Given the description of an element on the screen output the (x, y) to click on. 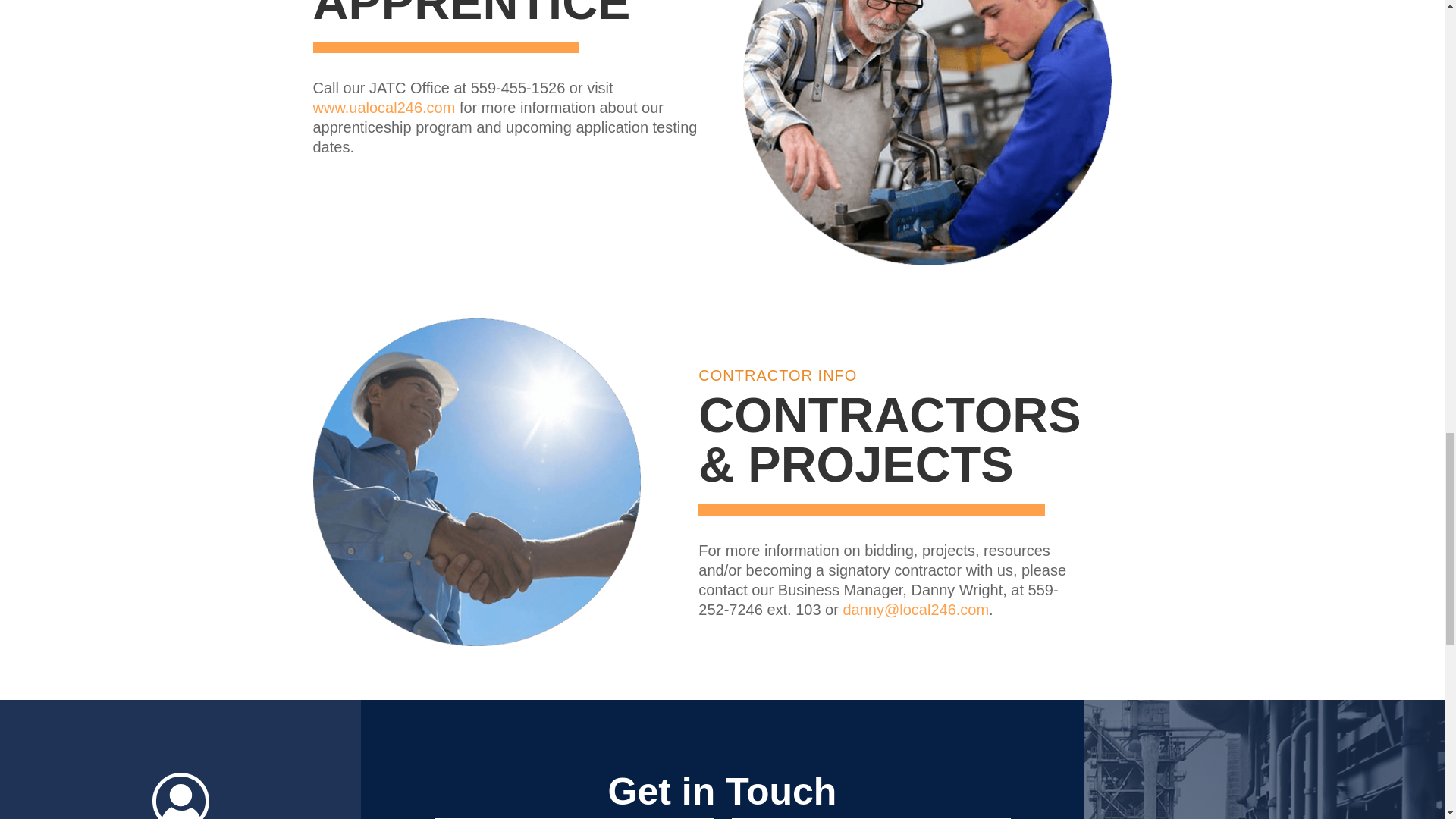
www.ualocal246.com (383, 107)
UA Local 246 - Contractor (476, 482)
UA Local 246 - Apprenticeship (927, 132)
Login Icon (180, 795)
